Given the description of an element on the screen output the (x, y) to click on. 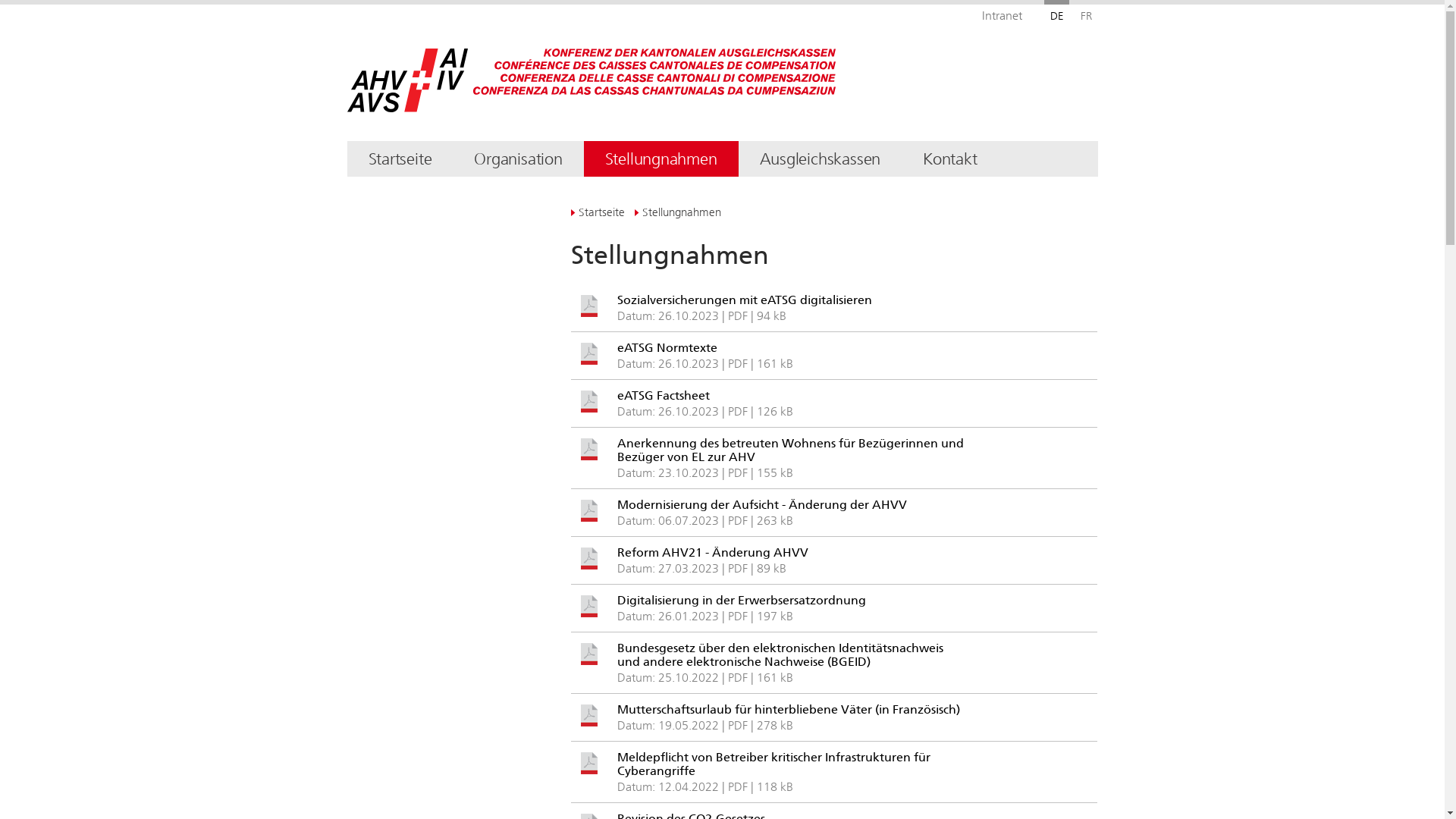
Stellungnahmen Element type: text (677, 212)
eATSG Normtexte
Datum: 26.10.2023 | PDF | 161 kB Element type: text (834, 360)
FR Element type: text (1084, 11)
Startseite Element type: text (400, 158)
Ausgleichskassen Element type: text (819, 158)
eATSG Factsheet
Datum: 26.10.2023 | PDF | 126 kB Element type: text (834, 408)
AHV Konferenz der kantonalen Ausgleichskassen Element type: hover (407, 80)
Startseite Element type: text (597, 212)
Organisation Element type: text (517, 158)
Intranet Element type: text (1001, 11)
Stellungnahmen Element type: text (660, 158)
DE Element type: text (1055, 11)
Kontakt Element type: text (949, 158)
AHV Konferenz der kantonalen Ausgleichskassen Element type: hover (528, 85)
